Given the description of an element on the screen output the (x, y) to click on. 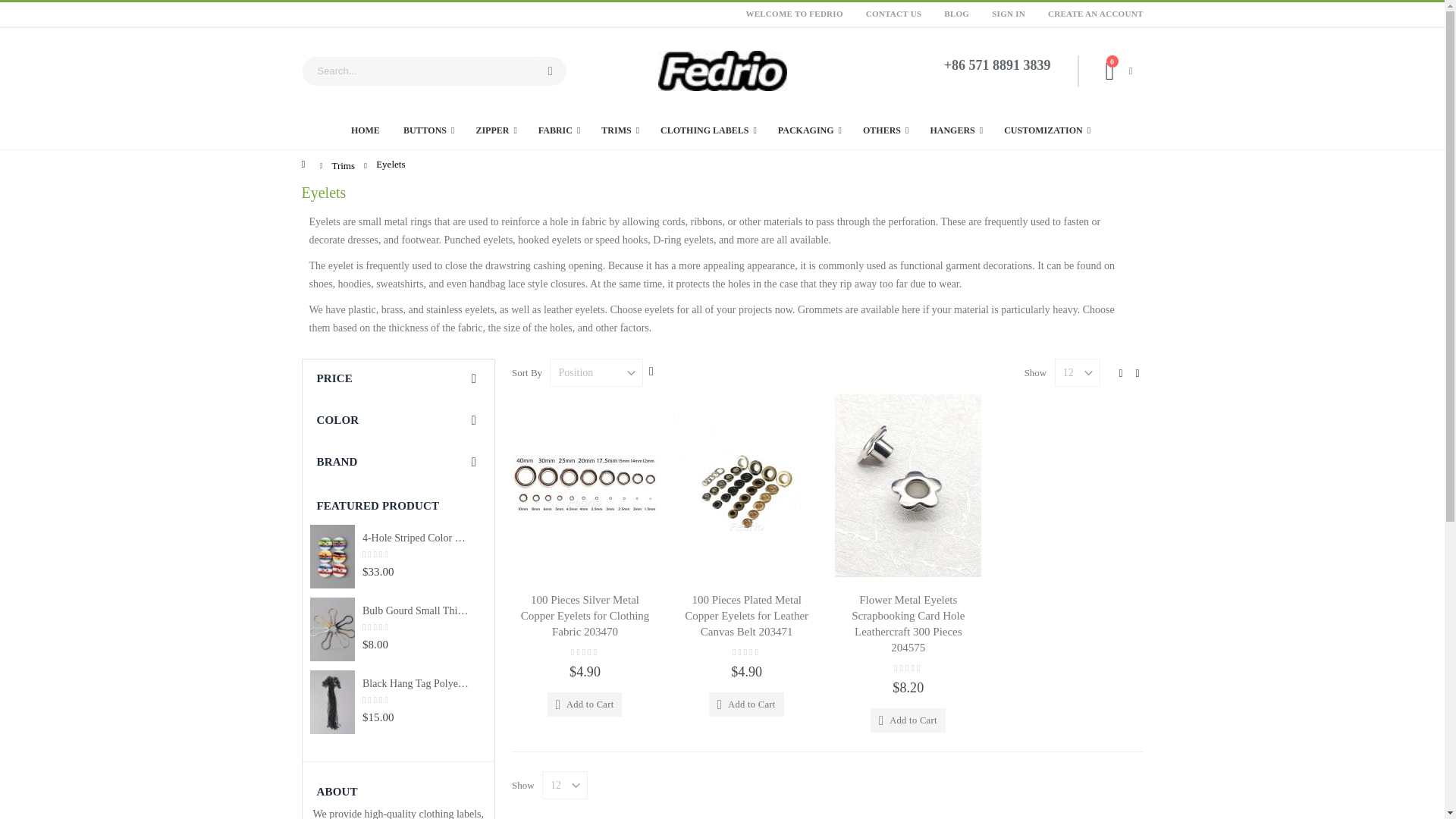
CREATE AN ACCOUNT (1089, 13)
ZIPPER (495, 130)
HOME (365, 129)
Buttons (429, 130)
Home (365, 129)
SIGN IN (1007, 13)
Search (550, 71)
FABRIC (559, 130)
Fedrio Logo (722, 70)
CONTACT US (893, 13)
BLOG (956, 13)
Search (550, 71)
BUTTONS (429, 130)
